Given the description of an element on the screen output the (x, y) to click on. 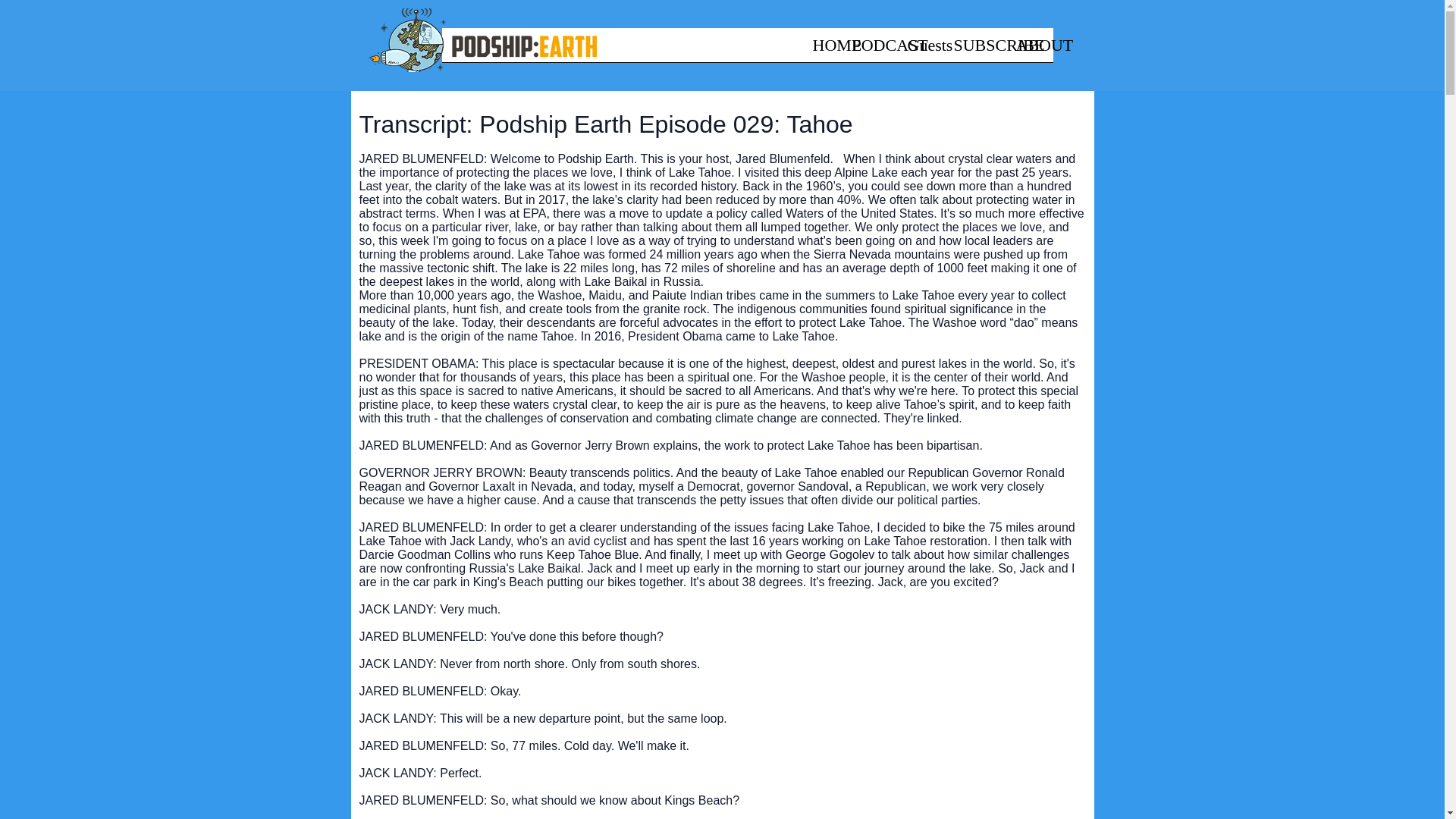
HOME (823, 49)
PODCAST (870, 49)
